Given the description of an element on the screen output the (x, y) to click on. 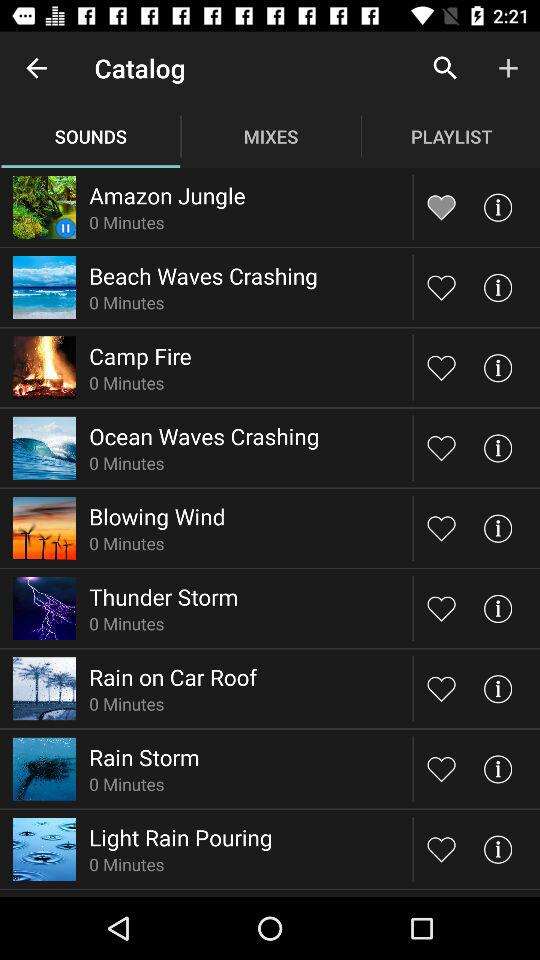
view information about track (498, 608)
